Given the description of an element on the screen output the (x, y) to click on. 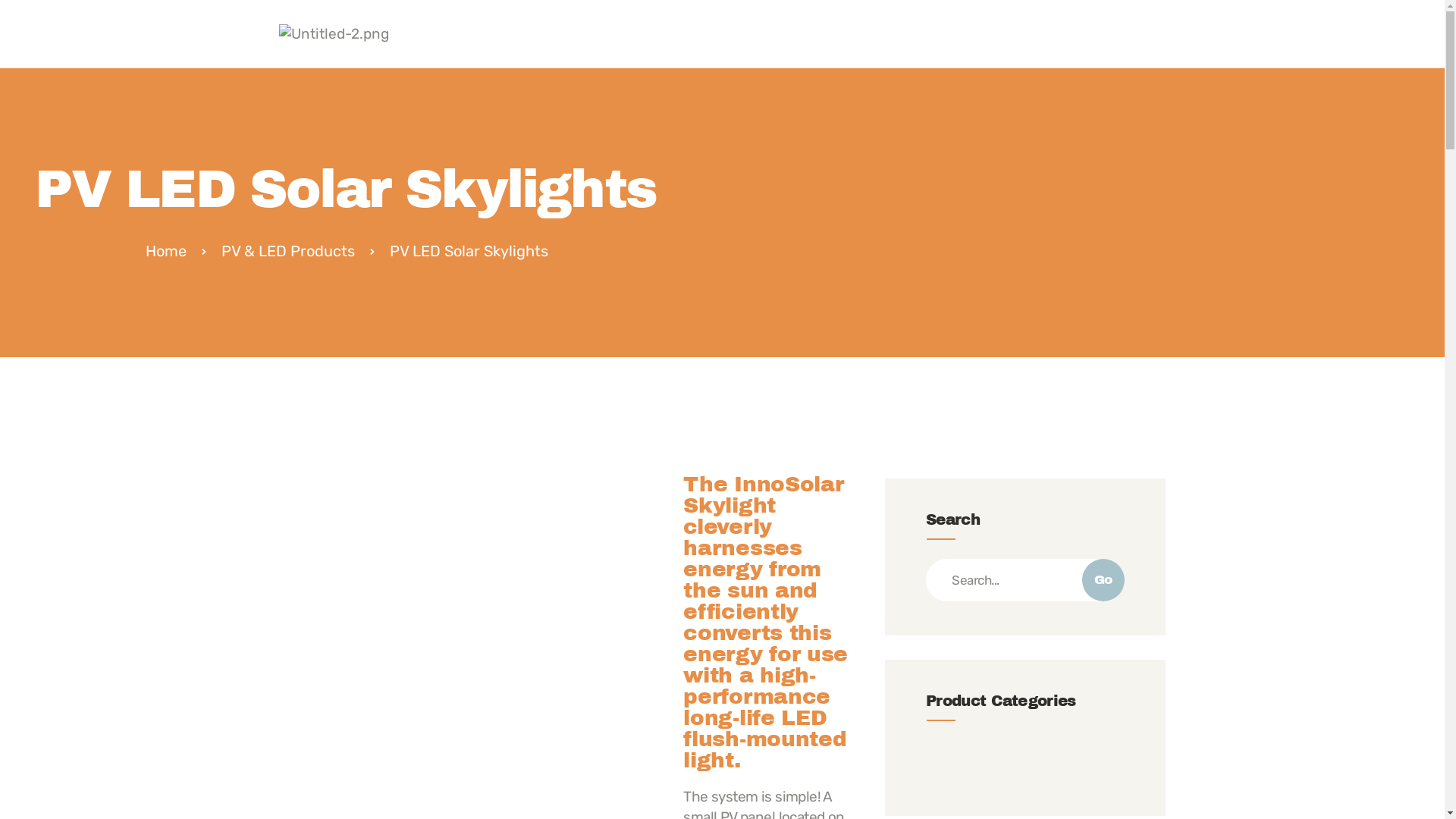
Search Element type: hover (1024, 579)
PV & LED Products Element type: text (287, 250)
Go Element type: text (1103, 579)
Home Element type: text (165, 250)
